Given the description of an element on the screen output the (x, y) to click on. 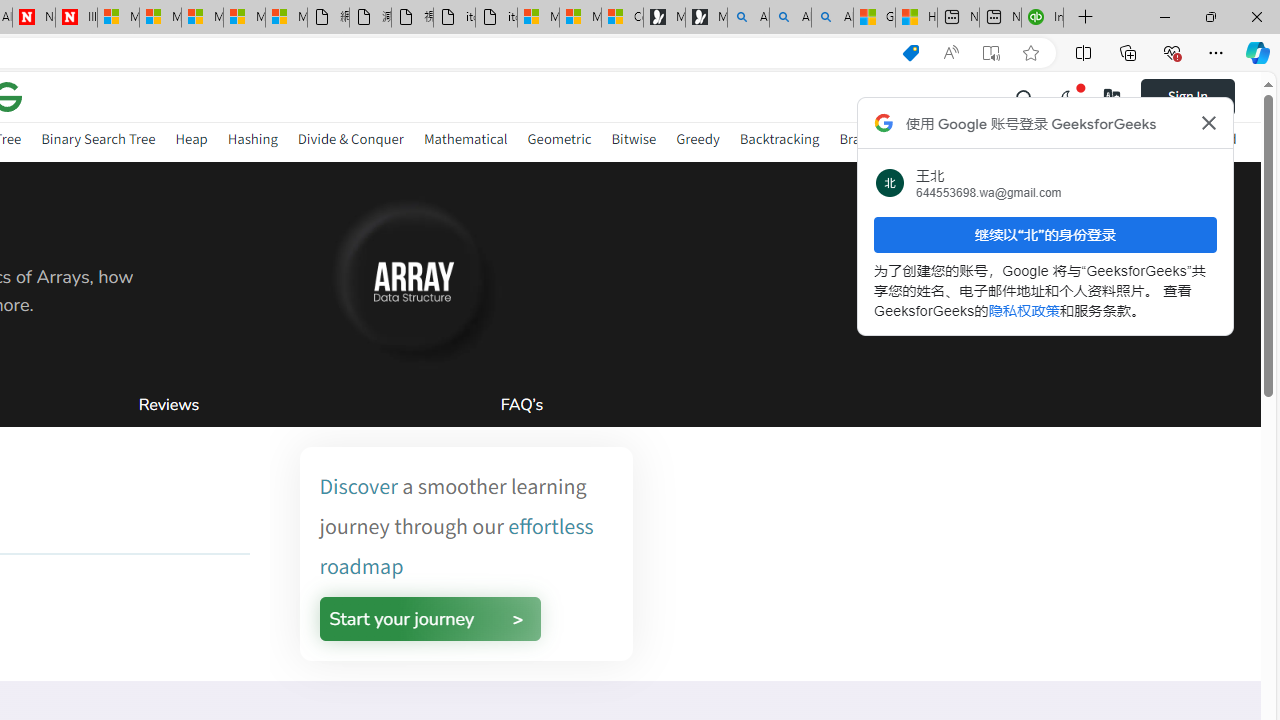
Class: Bz112c Bz112c-r9oPif (1208, 122)
Greedy (697, 142)
Greedy (697, 138)
Intuit QuickBooks Online - Quickbooks (1042, 17)
Alabama high school quarterback dies - Search Videos (831, 17)
Hashing (252, 138)
search (1025, 96)
Pattern Searching (1085, 142)
